Given the description of an element on the screen output the (x, y) to click on. 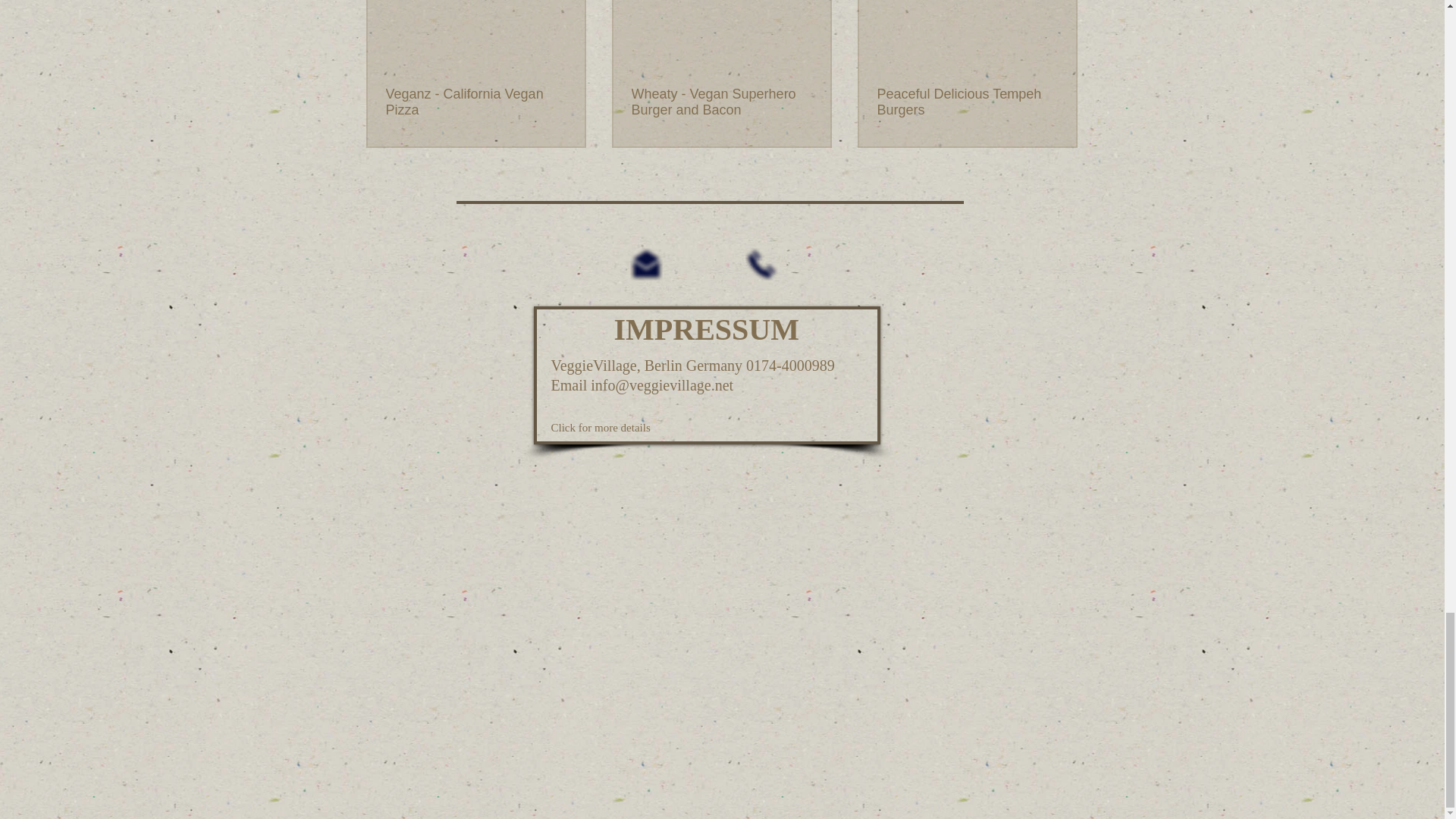
Wheaty - Vegan Superhero Burger and Bacon (720, 101)
Veganz - California Vegan Pizza (475, 101)
Peaceful Delicious Tempeh Burgers (966, 101)
